Given the description of an element on the screen output the (x, y) to click on. 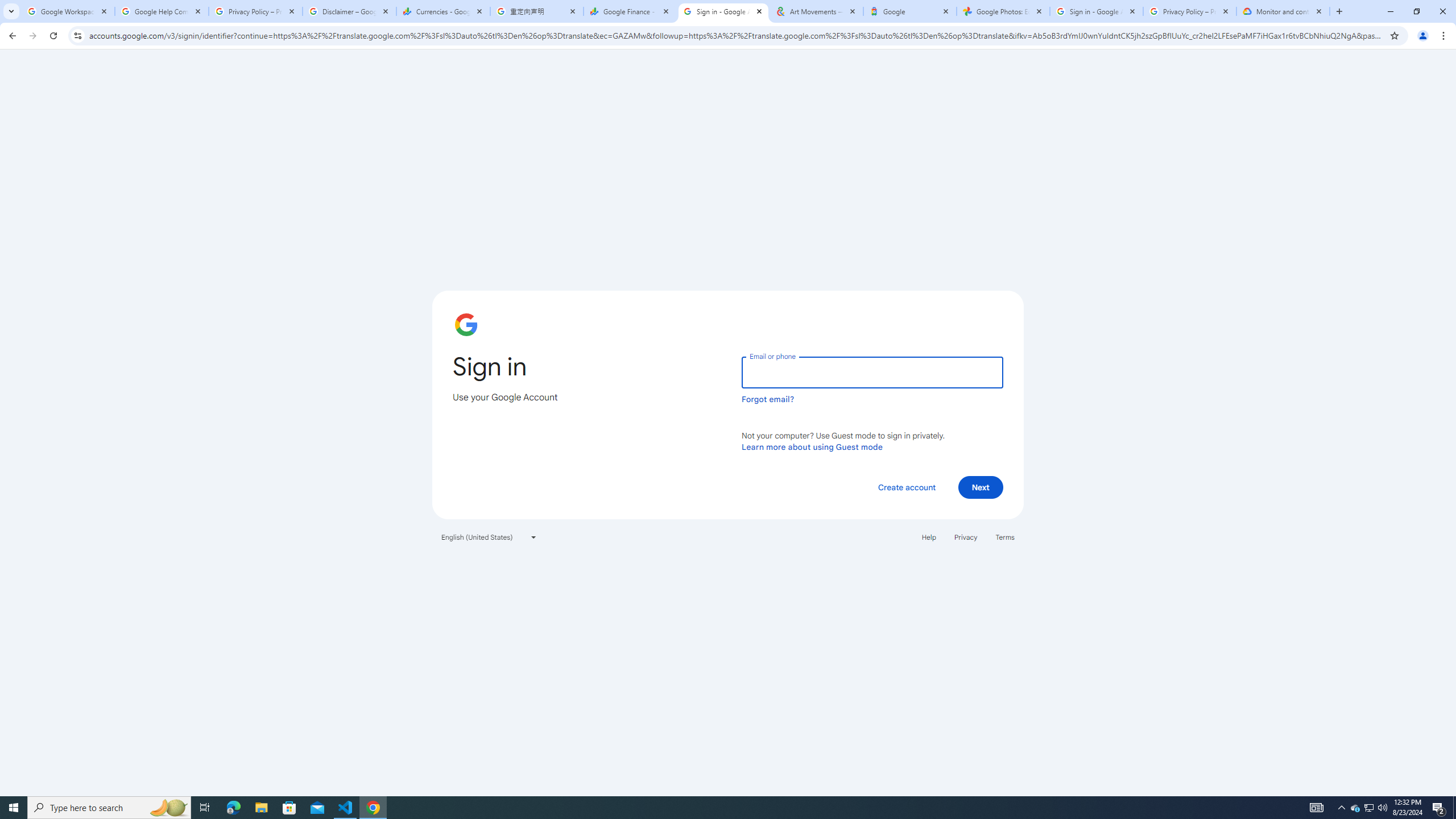
Next (980, 486)
Create account (905, 486)
English (United States) (489, 536)
Sign in - Google Accounts (1096, 11)
